Given the description of an element on the screen output the (x, y) to click on. 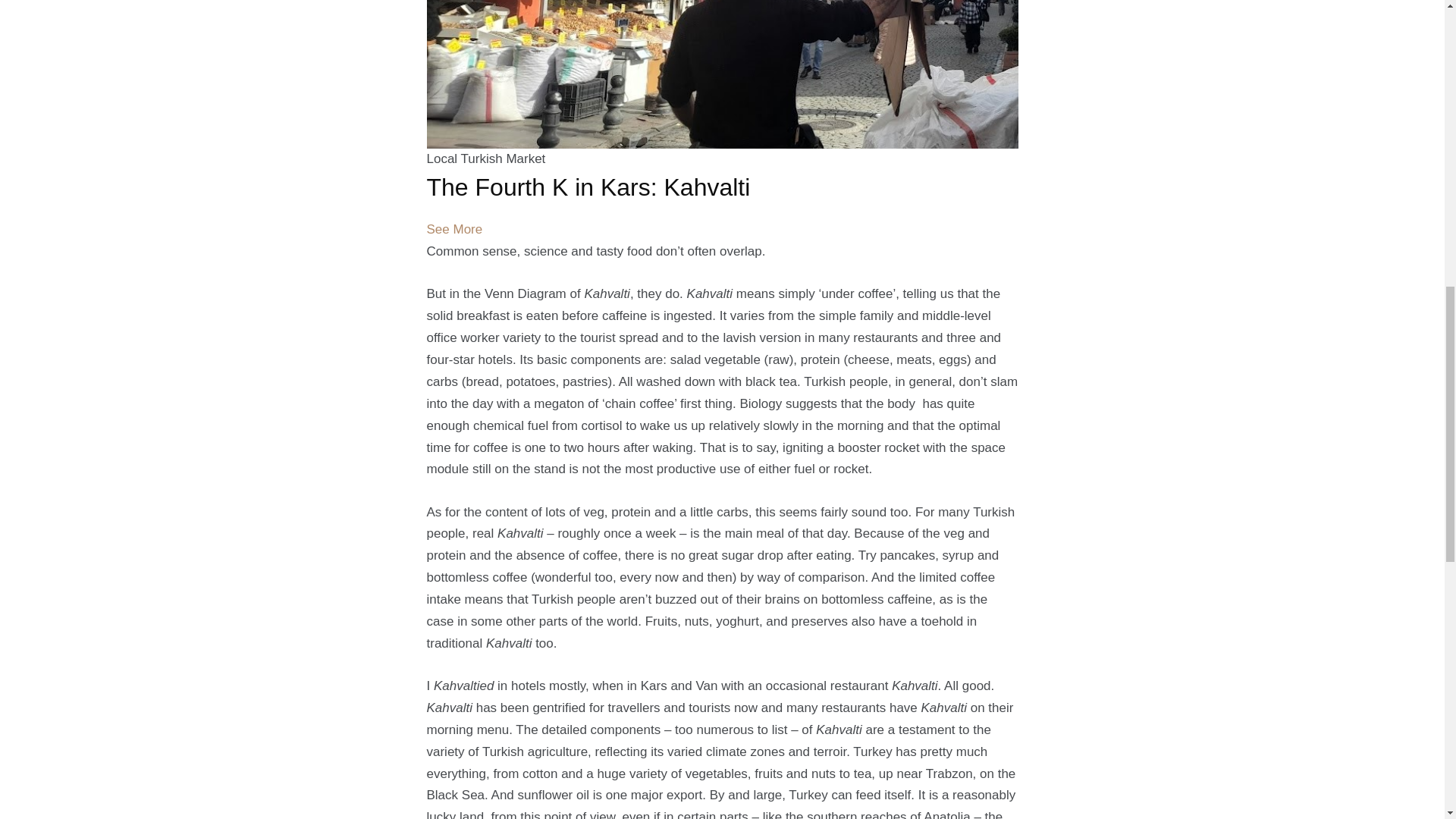
See More (453, 228)
